Given the description of an element on the screen output the (x, y) to click on. 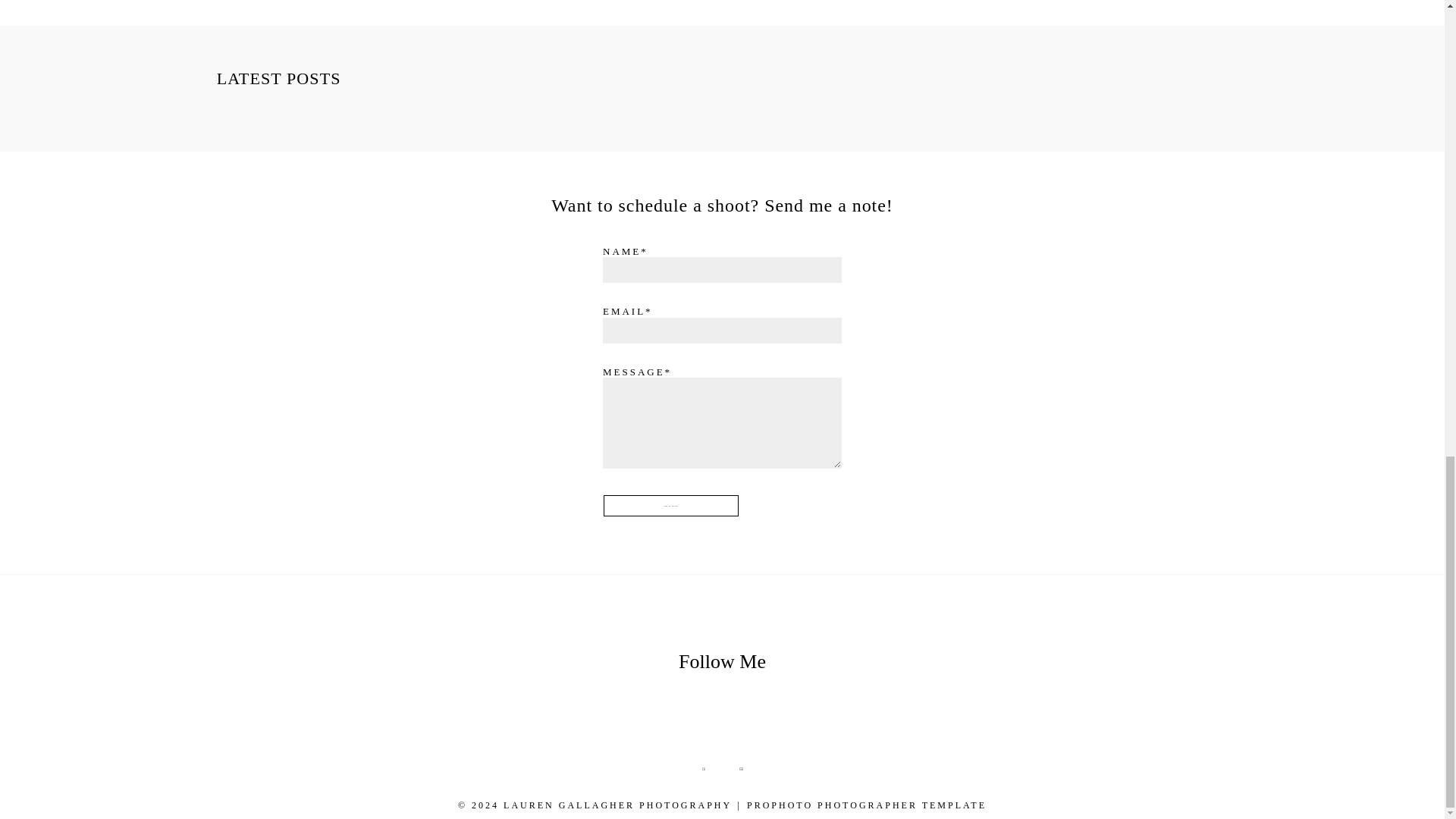
ProPhoto theme (866, 805)
PROPHOTO PHOTOGRAPHER TEMPLATE (866, 805)
